Given the description of an element on the screen output the (x, y) to click on. 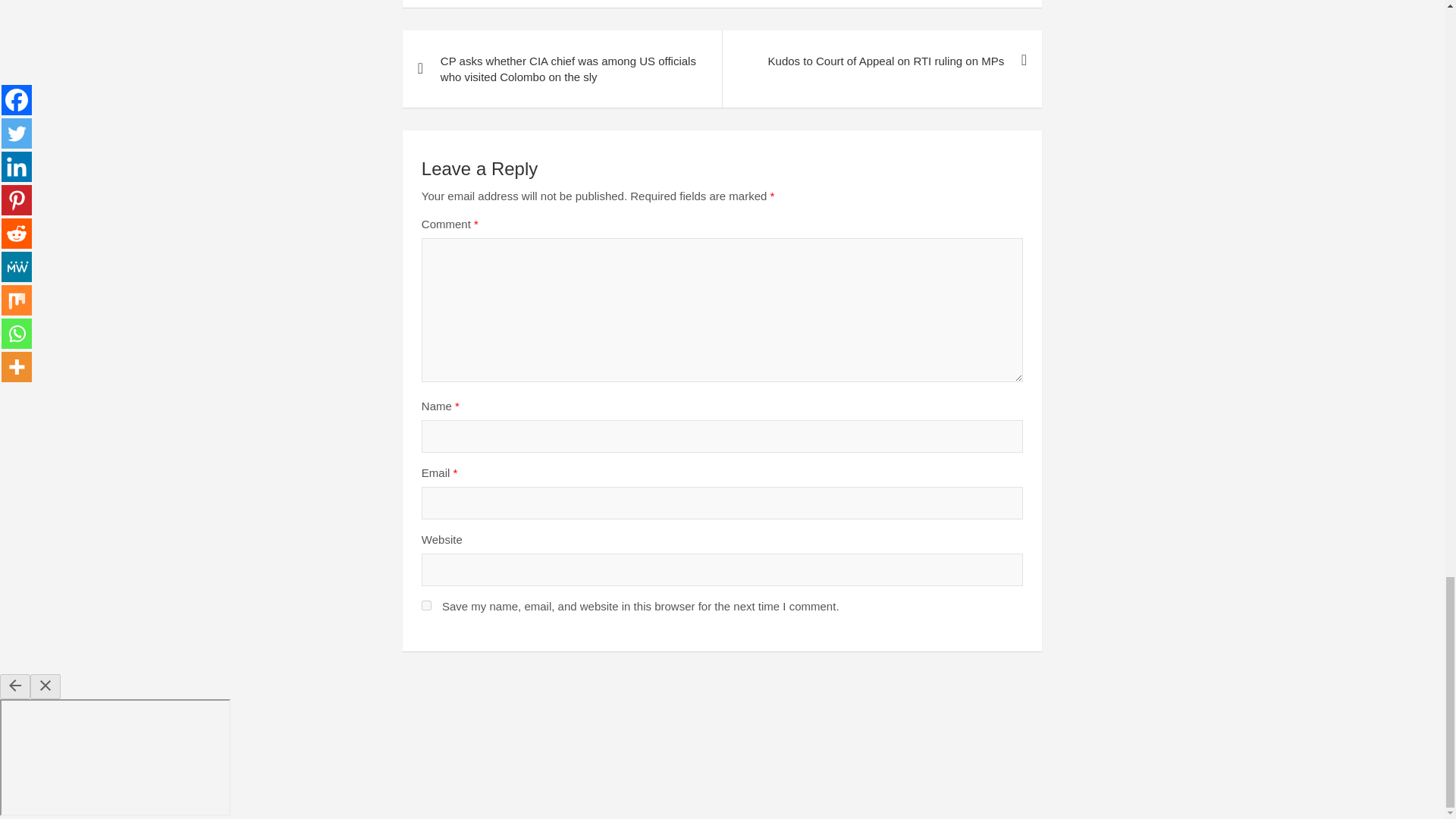
yes (426, 605)
